Given the description of an element on the screen output the (x, y) to click on. 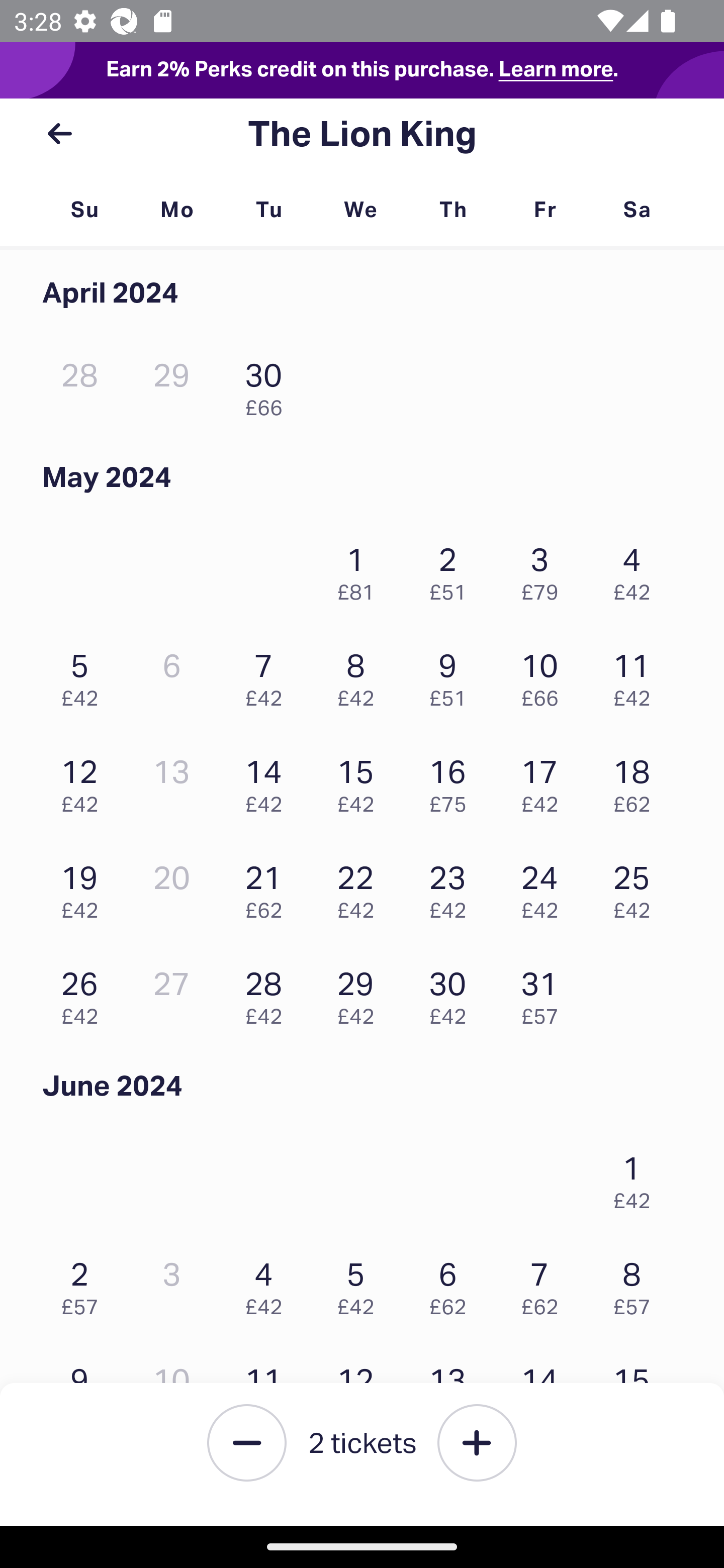
Earn 2% Perks credit on this purchase. Learn more. (362, 70)
back button (59, 133)
30 £66 (268, 384)
1 £81 (360, 569)
2 £51 (452, 569)
3 £79 (544, 569)
4 £42 (636, 569)
5 £42 (84, 674)
7 £42 (268, 674)
8 £42 (360, 674)
9 £51 (452, 674)
10 £66 (544, 674)
11 £42 (636, 674)
12 £42 (84, 781)
14 £42 (268, 781)
15 £42 (360, 781)
16 £75 (452, 781)
17 £42 (544, 781)
18 £62 (636, 781)
19 £42 (84, 886)
21 £62 (268, 886)
22 £42 (360, 886)
23 £42 (452, 886)
24 £42 (544, 886)
25 £42 (636, 886)
26 £42 (84, 992)
28 £42 (268, 992)
29 £42 (360, 992)
30 £42 (452, 992)
31 £57 (544, 992)
1 £42 (636, 1177)
2 £57 (84, 1283)
4 £42 (268, 1283)
5 £42 (360, 1283)
6 £62 (452, 1283)
7 £62 (544, 1283)
8 £57 (636, 1283)
